Given the description of an element on the screen output the (x, y) to click on. 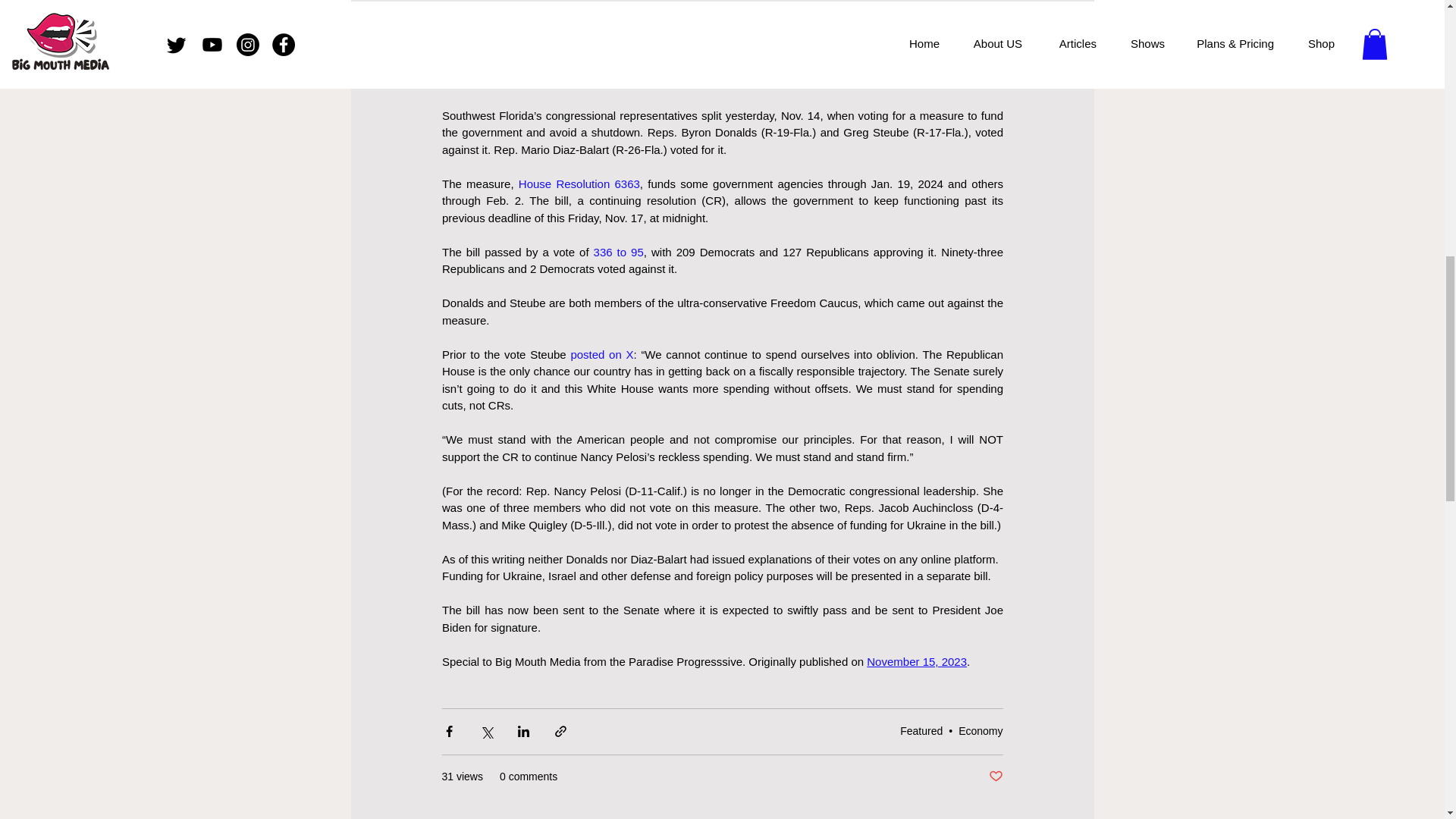
Economy (980, 730)
posted on X (601, 353)
House Resolution 6363 (578, 182)
336 to 95 (617, 250)
November 15, 2023 (916, 660)
Post not marked as liked (995, 776)
Featured (920, 730)
